Given the description of an element on the screen output the (x, y) to click on. 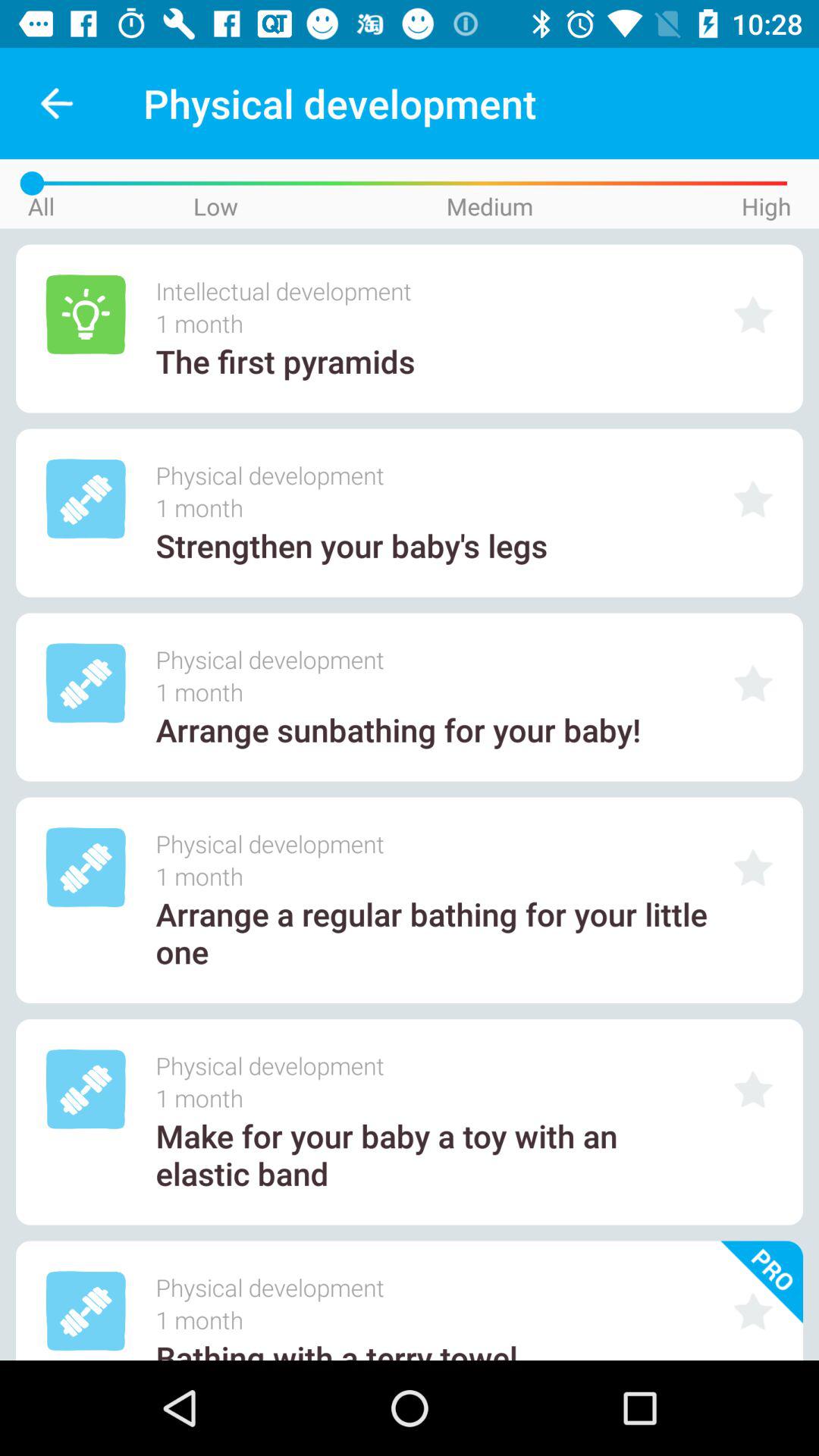
select as favorite (753, 867)
